Given the description of an element on the screen output the (x, y) to click on. 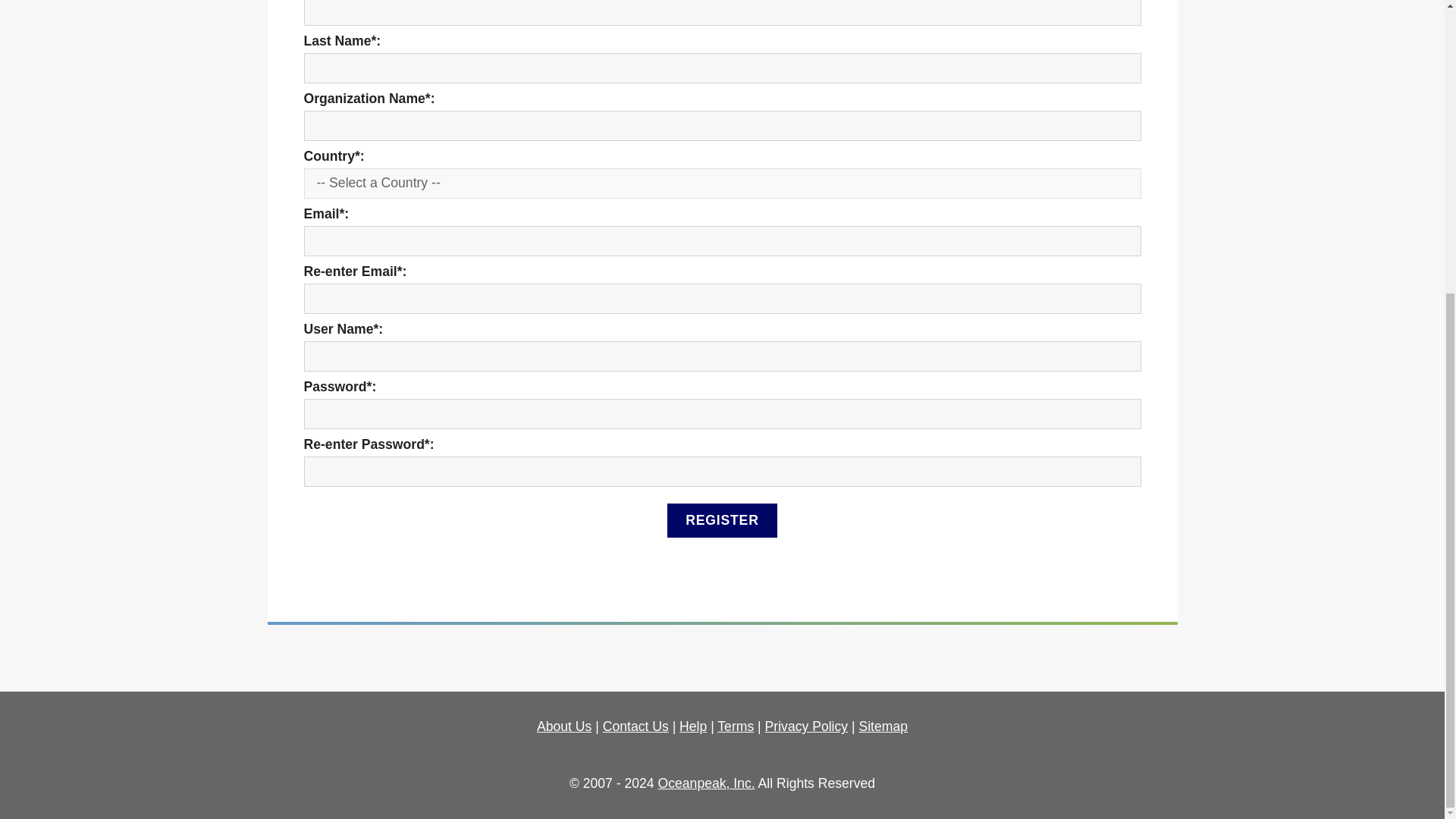
Privacy Policy (806, 726)
About Us (564, 726)
Terms (735, 726)
Common Grant Application Privacy Policy (806, 726)
Help (692, 726)
Common Grant Application Sitemap (883, 726)
Oceanpeak, Inc. (706, 783)
Contact the Common Grant Application (635, 726)
Register (721, 520)
Register (721, 520)
Sitemap (883, 726)
Contact Us (635, 726)
Common Grant Application Terms of Use (735, 726)
About the Common Grant Application (564, 726)
